Given the description of an element on the screen output the (x, y) to click on. 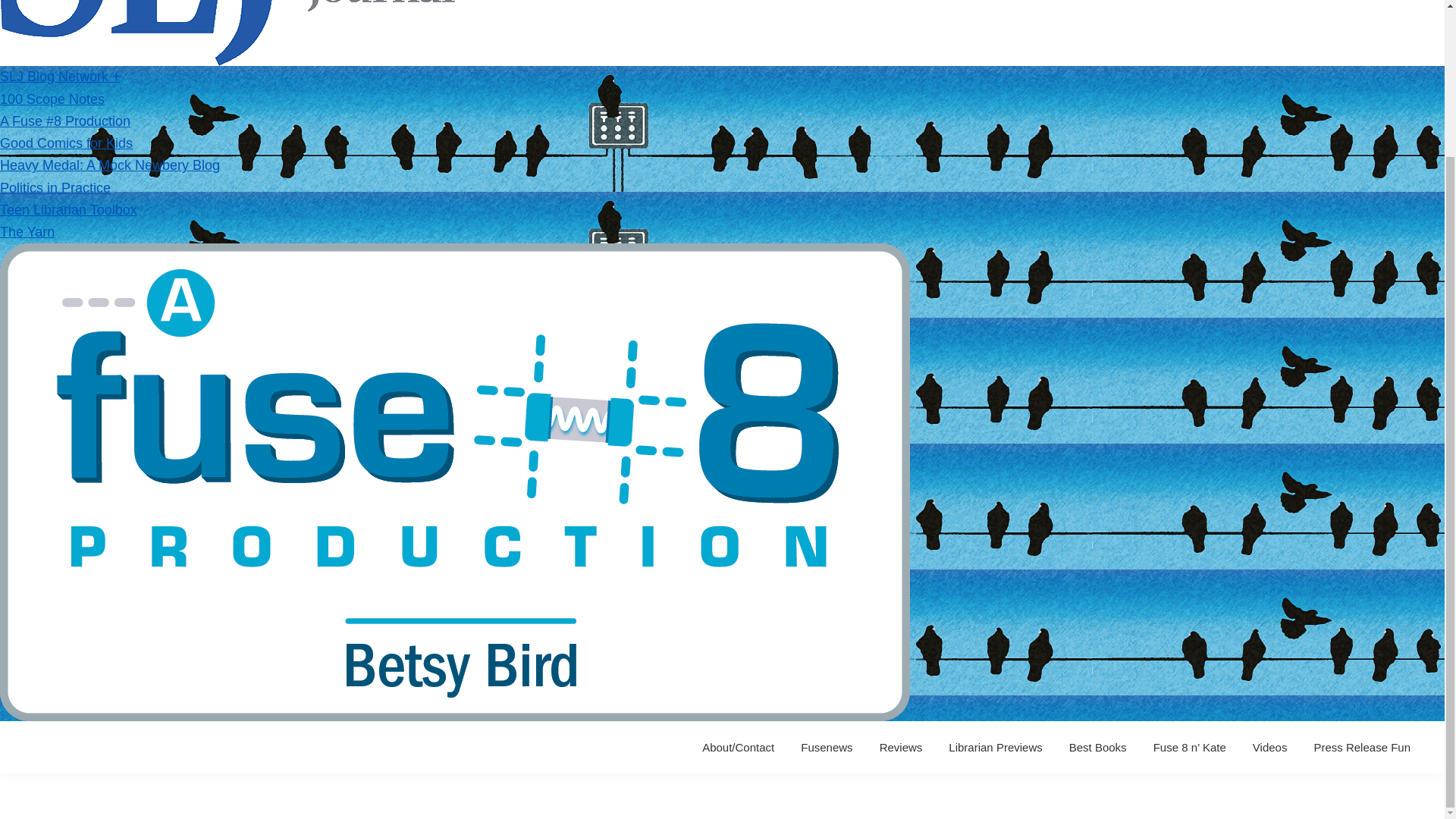
Reviews (900, 747)
The Yarn (27, 231)
Good Comics for Kids (66, 142)
100 Scope Notes (52, 98)
Politics in Practice (55, 187)
Best Books (1098, 747)
Teen Librarian Toolbox (68, 209)
Librarian Previews (994, 747)
Heavy Medal: A Mock Newbery Blog (109, 165)
